Given the description of an element on the screen output the (x, y) to click on. 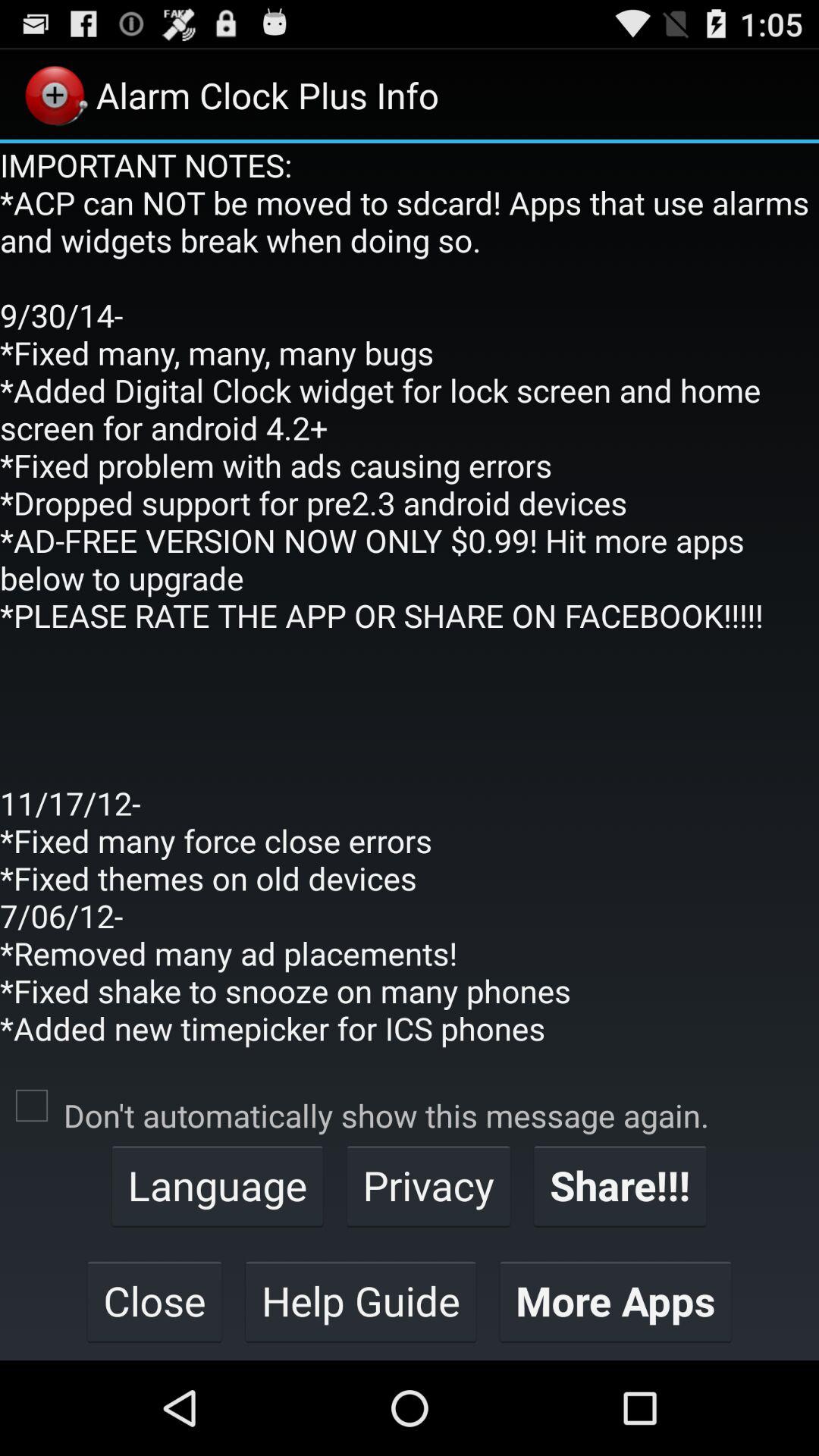
open icon below the don t automatically app (620, 1185)
